Given the description of an element on the screen output the (x, y) to click on. 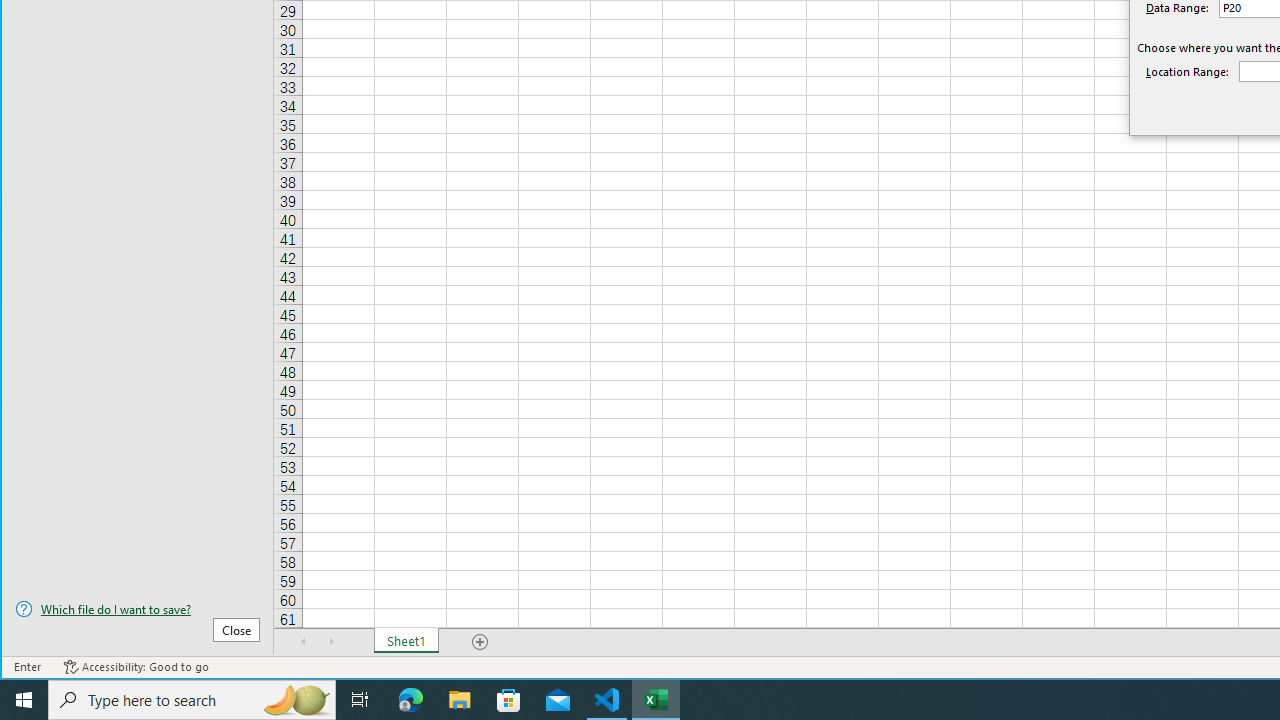
Scroll Left (303, 641)
Which file do I want to save? (137, 609)
Accessibility Checker Accessibility: Good to go (136, 667)
Sheet1 (406, 641)
Add Sheet (481, 641)
Scroll Right (331, 641)
